Given the description of an element on the screen output the (x, y) to click on. 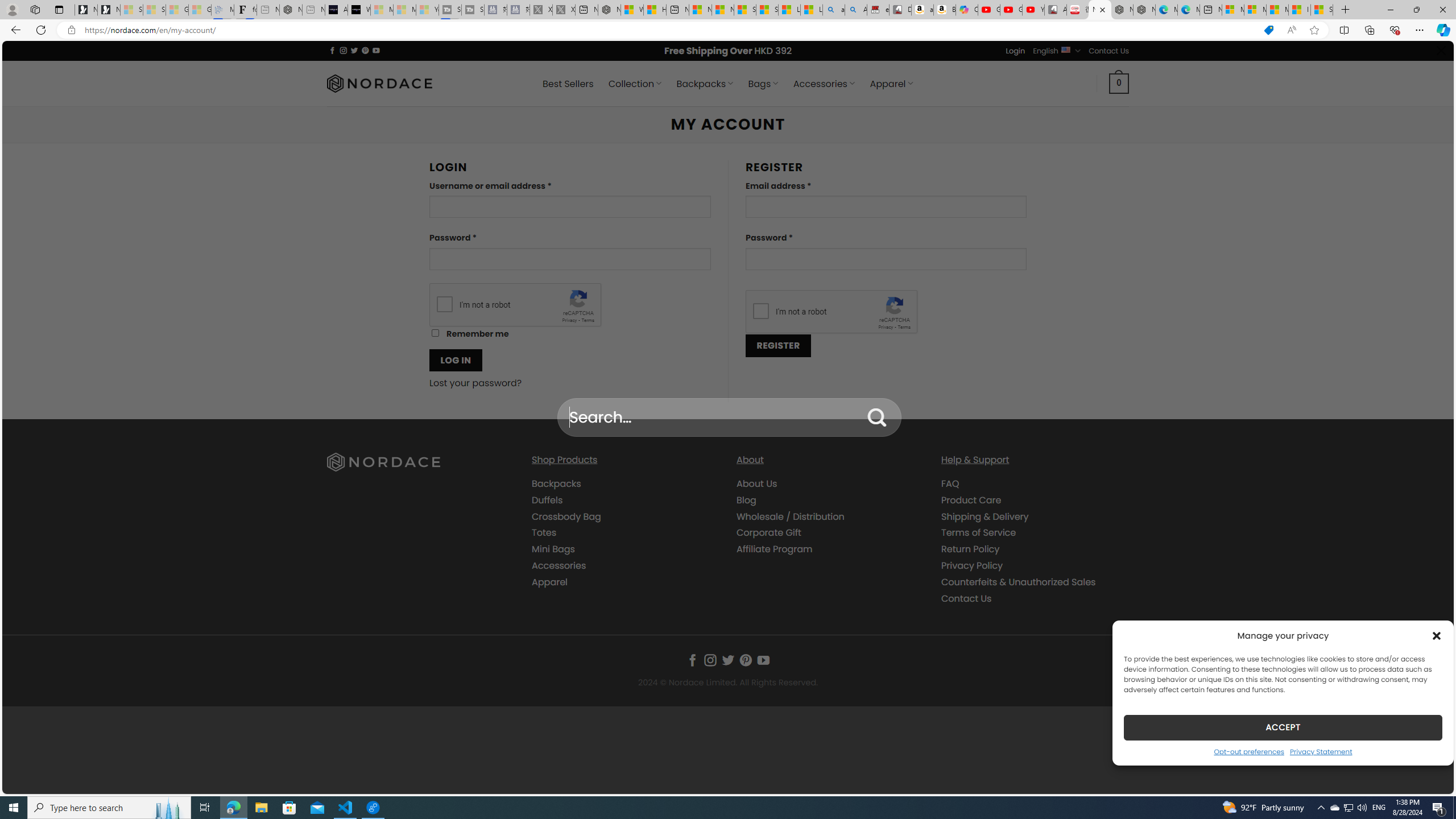
Microsoft account | Privacy (1255, 9)
